Given the description of an element on the screen output the (x, y) to click on. 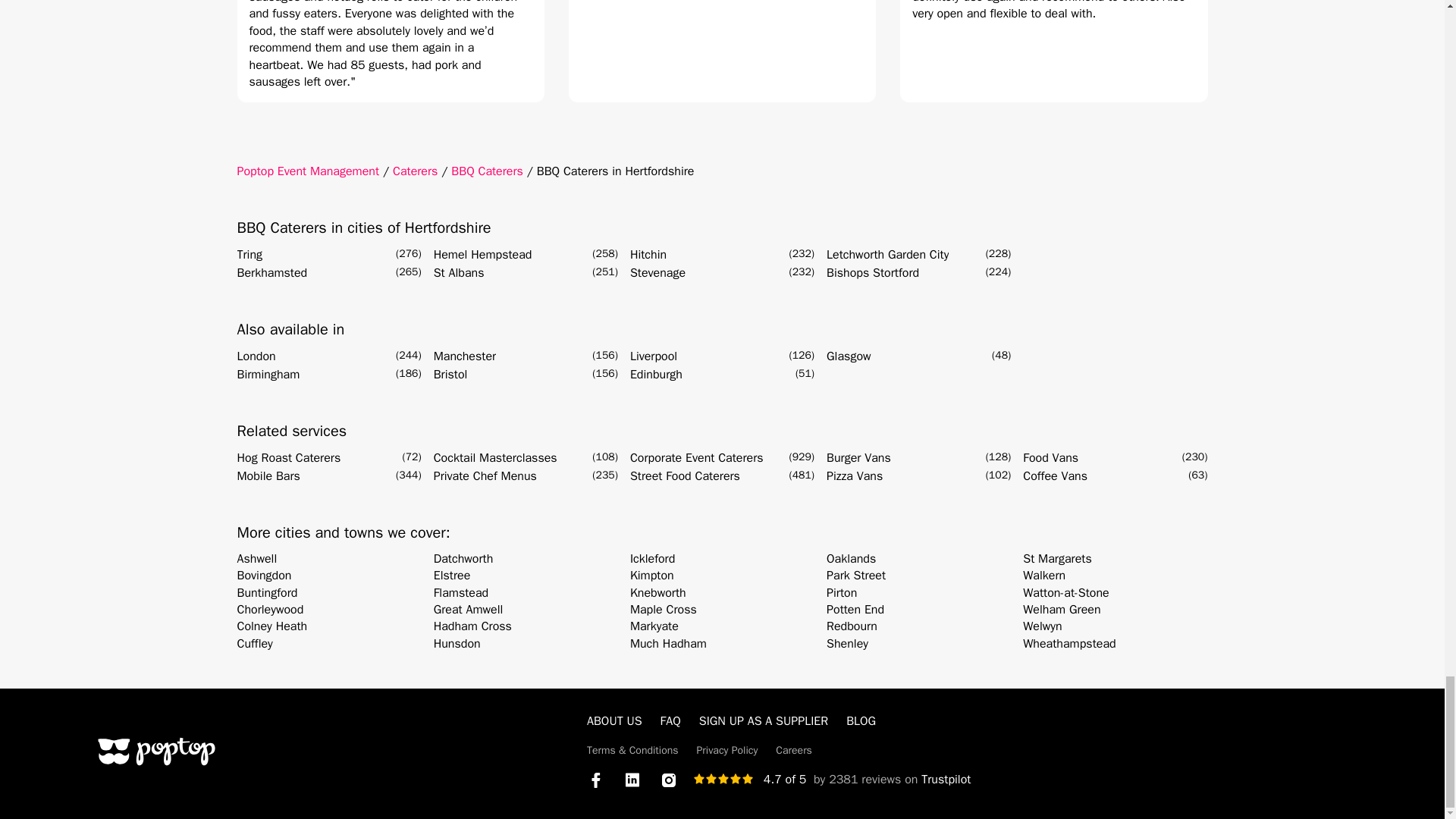
SIGN UP AS A SUPPLIER (763, 720)
Edinburgh (656, 374)
Hemel Hempstead (482, 254)
Liverpool (653, 356)
Stevenage (657, 272)
Poptop Event Management (306, 171)
Food Vans (1050, 457)
BLOG (860, 720)
Letchworth Garden City (888, 254)
Cocktail Masterclasses (495, 457)
